Given the description of an element on the screen output the (x, y) to click on. 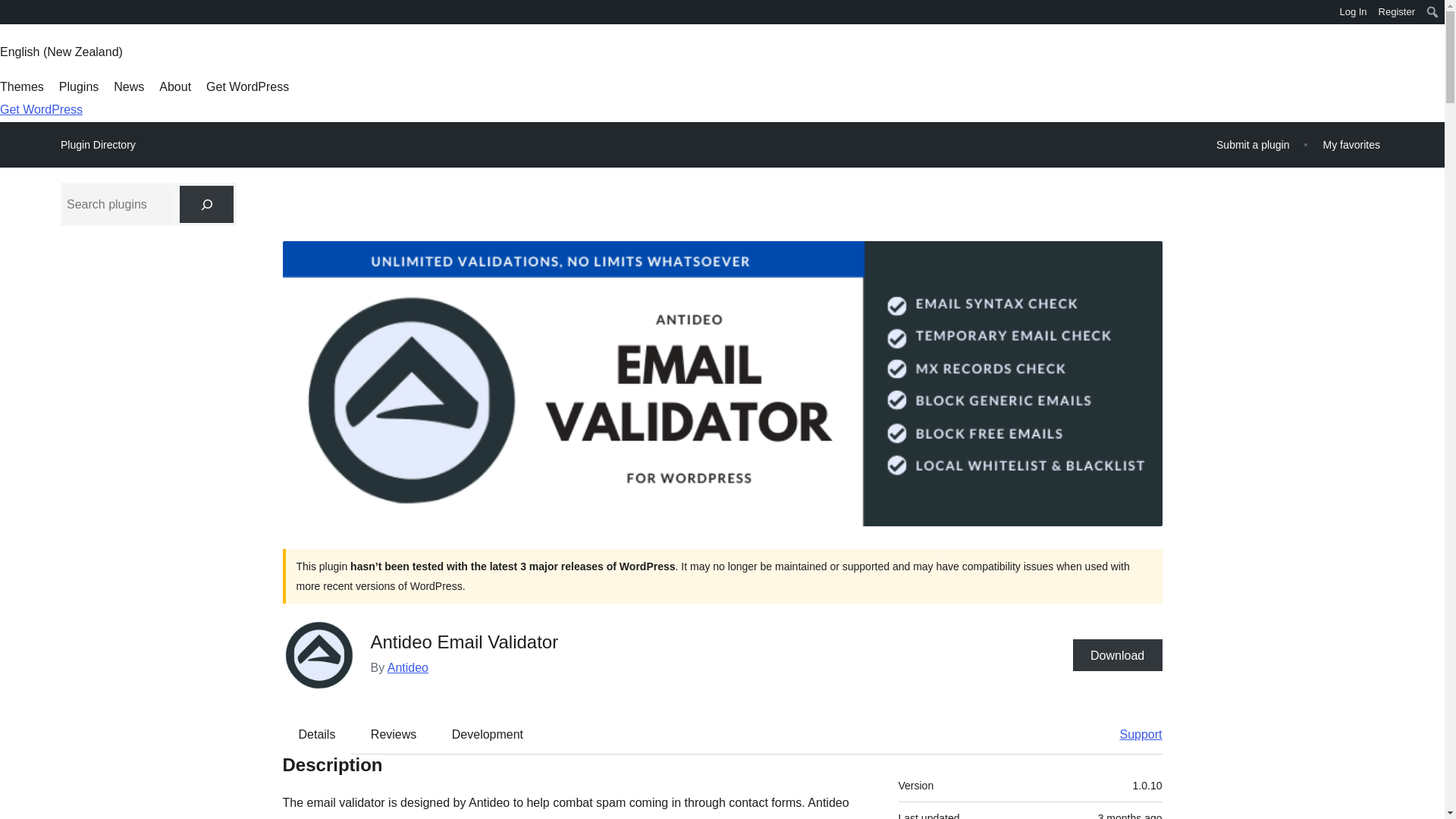
Details (316, 733)
Antideo (407, 667)
Development (487, 733)
Register (1397, 12)
About (174, 87)
Plugin Directory (97, 144)
Log In (1353, 12)
Reviews (392, 733)
WordPress.org (10, 10)
Get WordPress (41, 109)
My favorites (1351, 144)
News (128, 87)
Plugins (79, 87)
Themes (21, 87)
Get WordPress (247, 87)
